Given the description of an element on the screen output the (x, y) to click on. 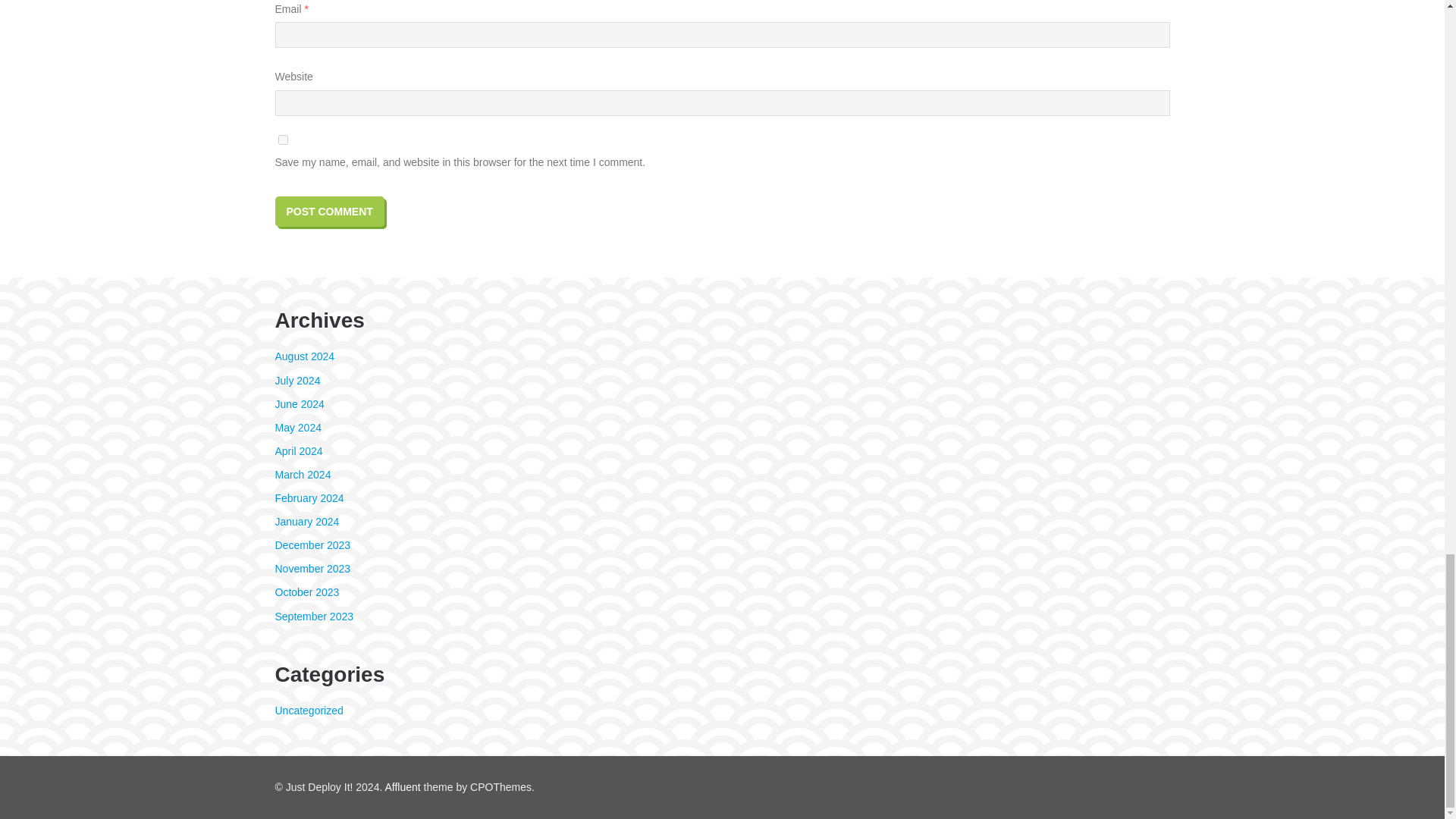
Affluent (402, 787)
October 2023 (307, 592)
March 2024 (302, 474)
December 2023 (312, 544)
Post Comment (329, 210)
April 2024 (298, 451)
June 2024 (299, 404)
September 2023 (314, 616)
July 2024 (297, 380)
yes (282, 139)
August 2024 (304, 356)
January 2024 (307, 521)
Post Comment (329, 210)
Uncategorized (308, 710)
May 2024 (297, 427)
